Given the description of an element on the screen output the (x, y) to click on. 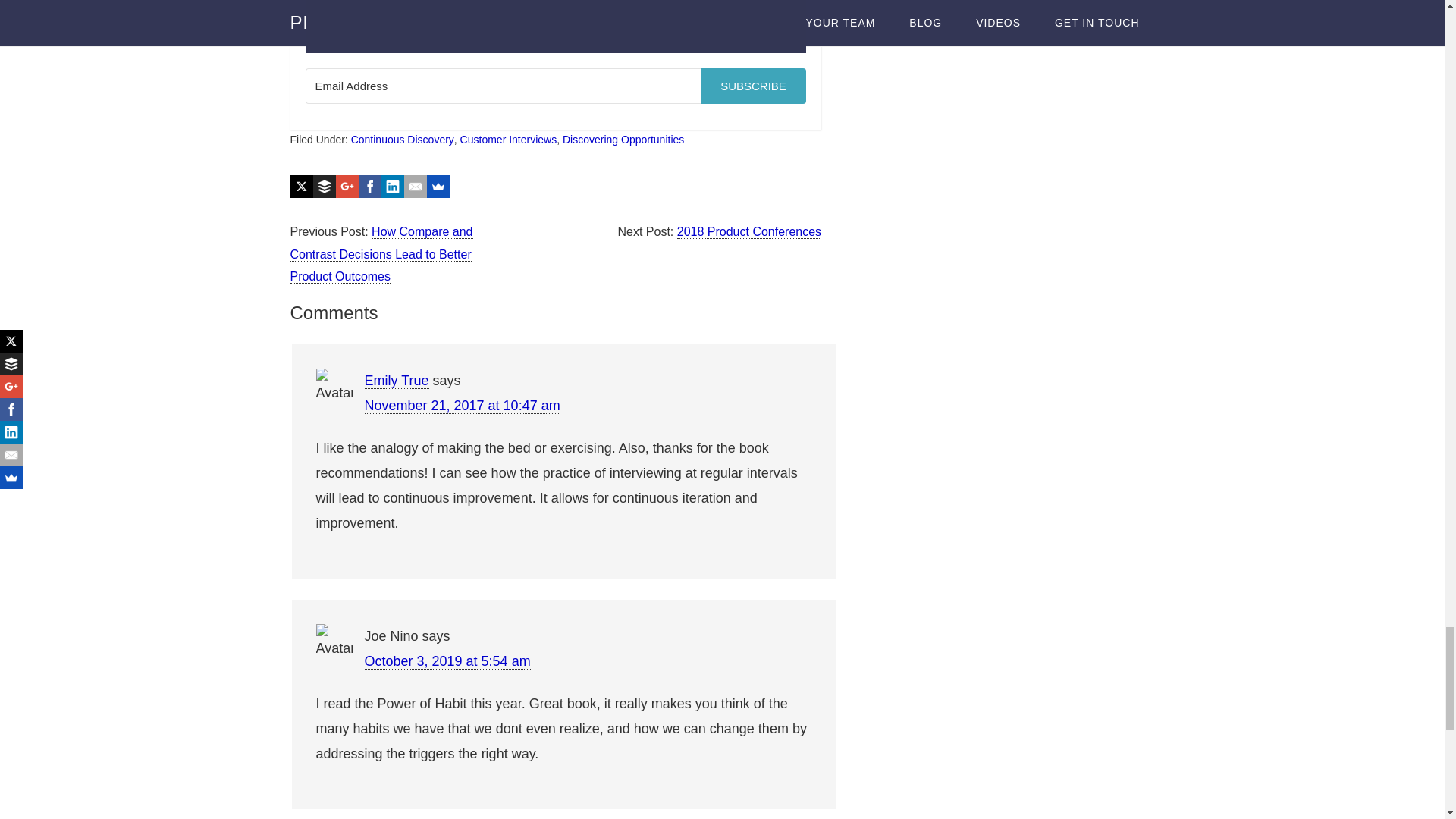
2018 Product Conferences (749, 232)
Continuous Discovery (402, 139)
Emily True (396, 381)
X (301, 186)
Email (414, 186)
SumoMe (437, 186)
SUBSCRIBE (752, 85)
Buffer (323, 186)
LinkedIn (391, 186)
October 3, 2019 at 5:54 am (446, 661)
Customer Interviews (508, 139)
Discovering Opportunities (623, 139)
Facebook (369, 186)
November 21, 2017 at 10:47 am (461, 406)
